Given the description of an element on the screen output the (x, y) to click on. 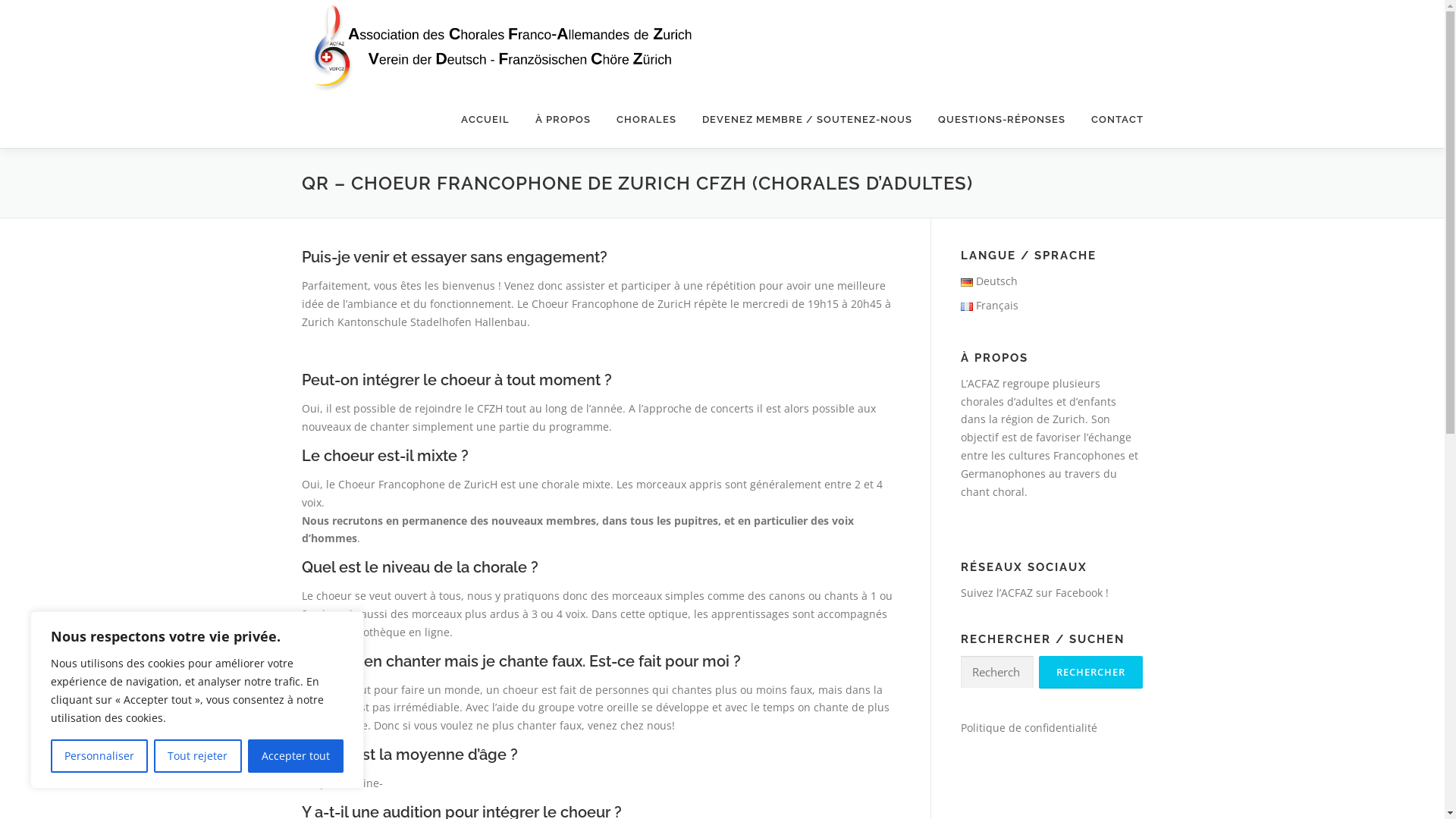
ACCUEIL Element type: text (484, 119)
Tout rejeter Element type: text (197, 755)
DEVENEZ MEMBRE / SOUTENEZ-NOUS Element type: text (806, 119)
Rechercher Element type: text (1090, 671)
Accepter tout Element type: text (295, 755)
Personnaliser Element type: text (98, 755)
CONTACT Element type: text (1110, 119)
CHORALES Element type: text (646, 119)
Deutsch Element type: text (988, 280)
Facebook Element type: text (1078, 592)
